Given the description of an element on the screen output the (x, y) to click on. 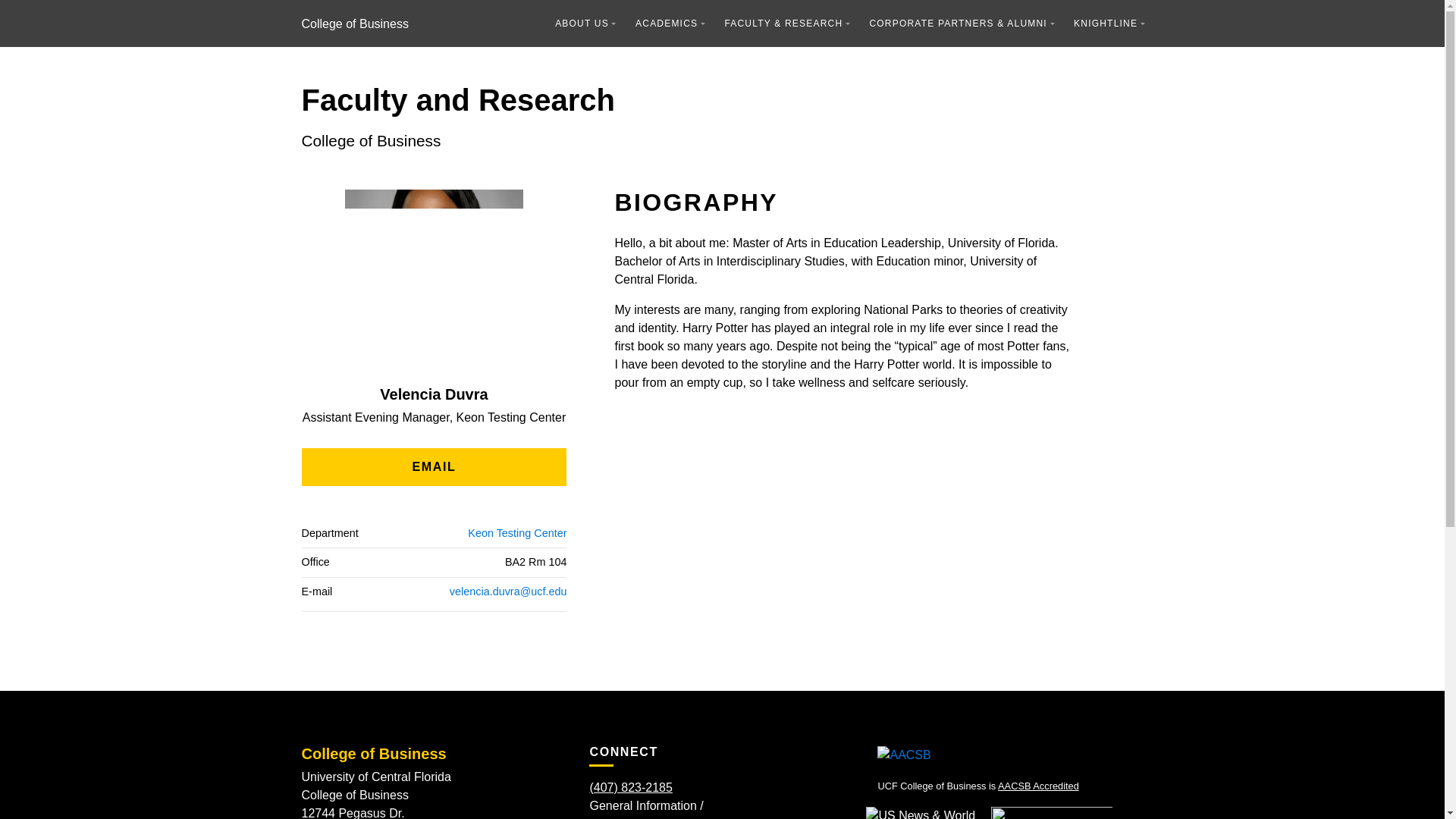
EMAIL (434, 466)
ABOUT US (585, 23)
College of Business (355, 23)
ACADEMICS (670, 23)
KNIGHTLINE (1109, 23)
